Given the description of an element on the screen output the (x, y) to click on. 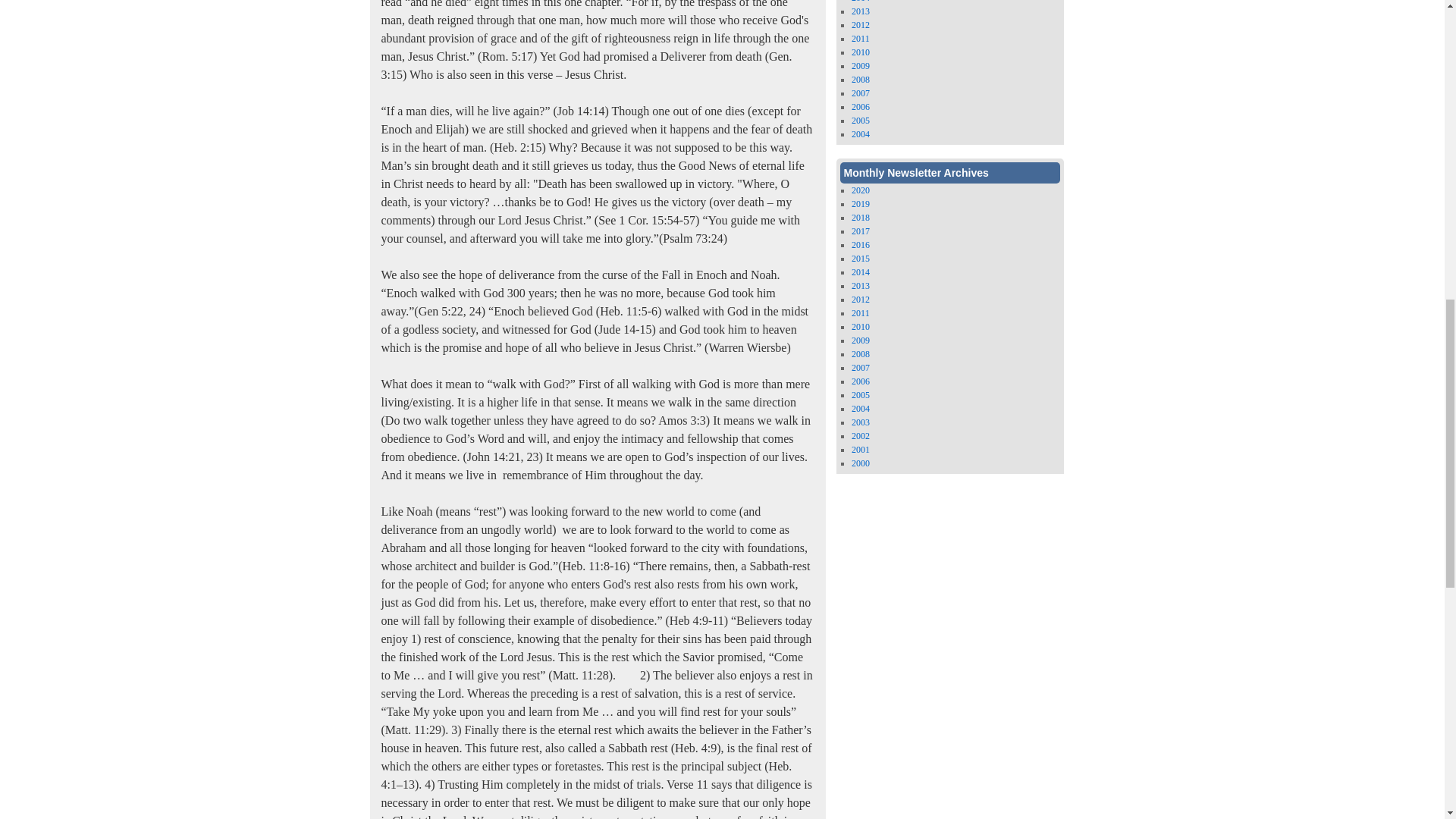
2012 (860, 24)
2018 (860, 217)
2011 (860, 38)
2016 (860, 244)
2014 (860, 1)
2006 (860, 106)
2008 (860, 79)
2017 (860, 231)
2010 (860, 51)
2013 (860, 10)
2019 (860, 204)
2009 (860, 65)
2004 (860, 133)
2005 (860, 120)
2007 (860, 92)
